Given the description of an element on the screen output the (x, y) to click on. 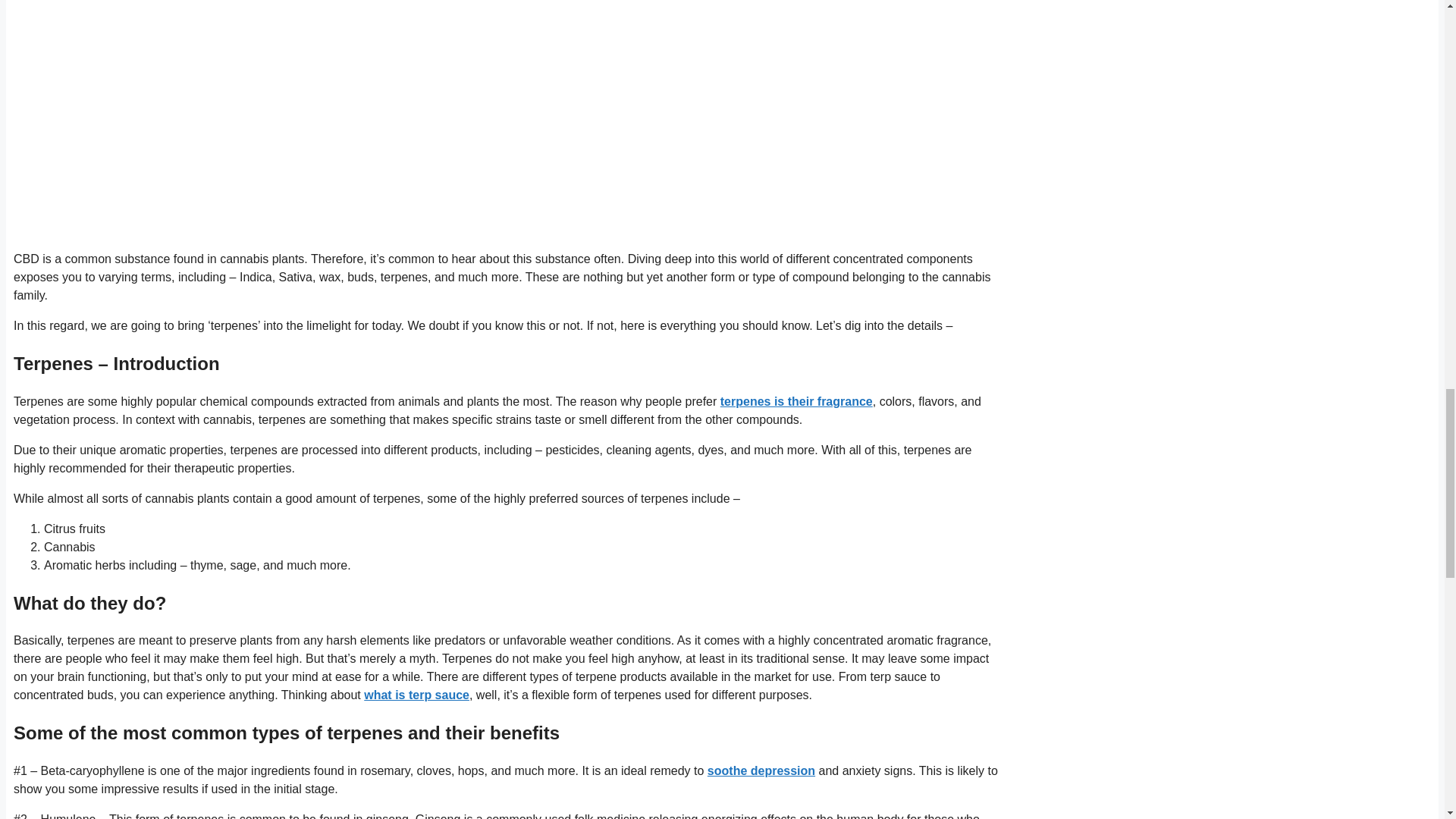
soothe depression (761, 770)
what is terp sauce (416, 694)
terpenes is their fragrance (796, 400)
